Given the description of an element on the screen output the (x, y) to click on. 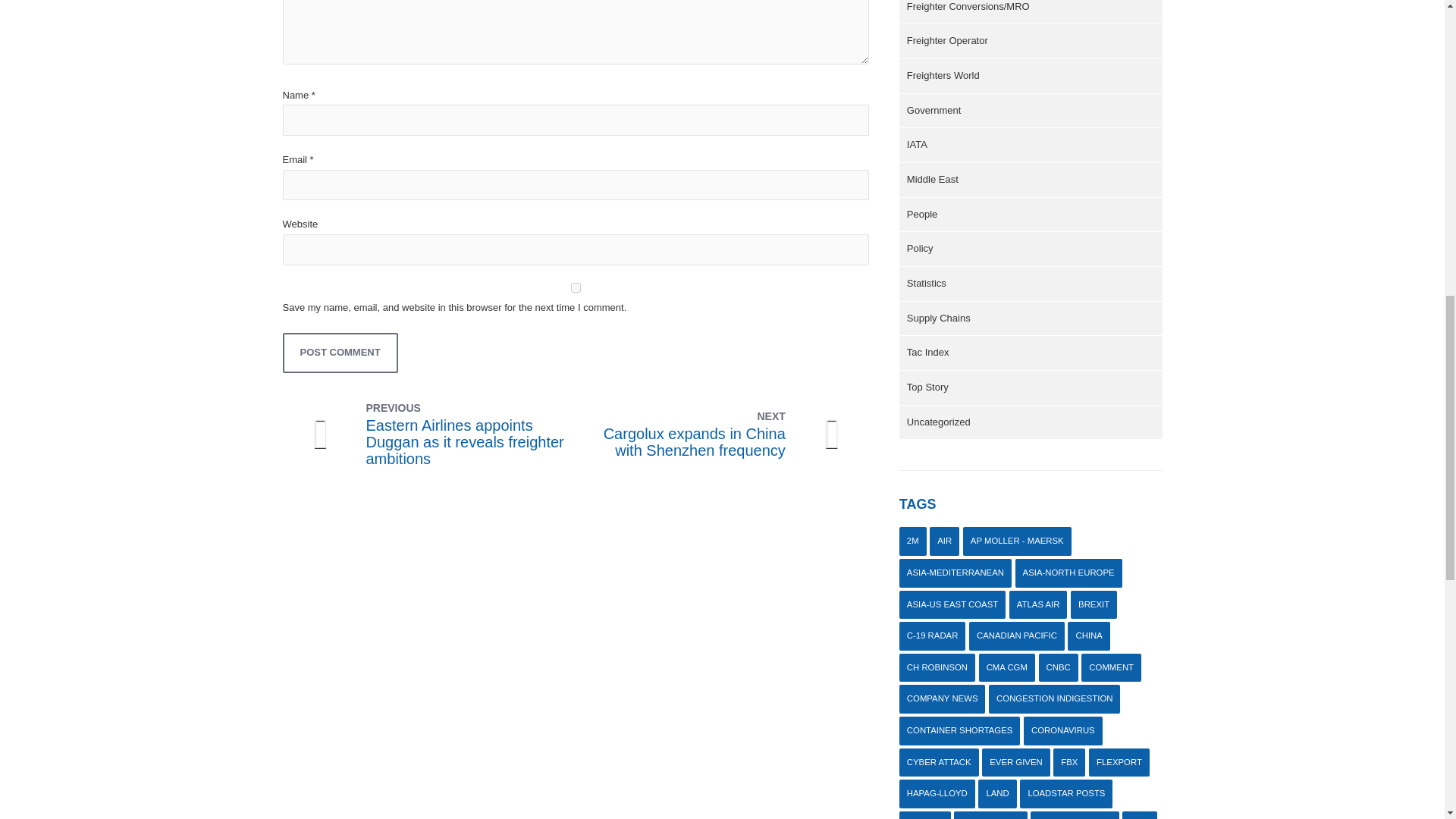
POST COMMENT (684, 433)
yes (339, 352)
